Given the description of an element on the screen output the (x, y) to click on. 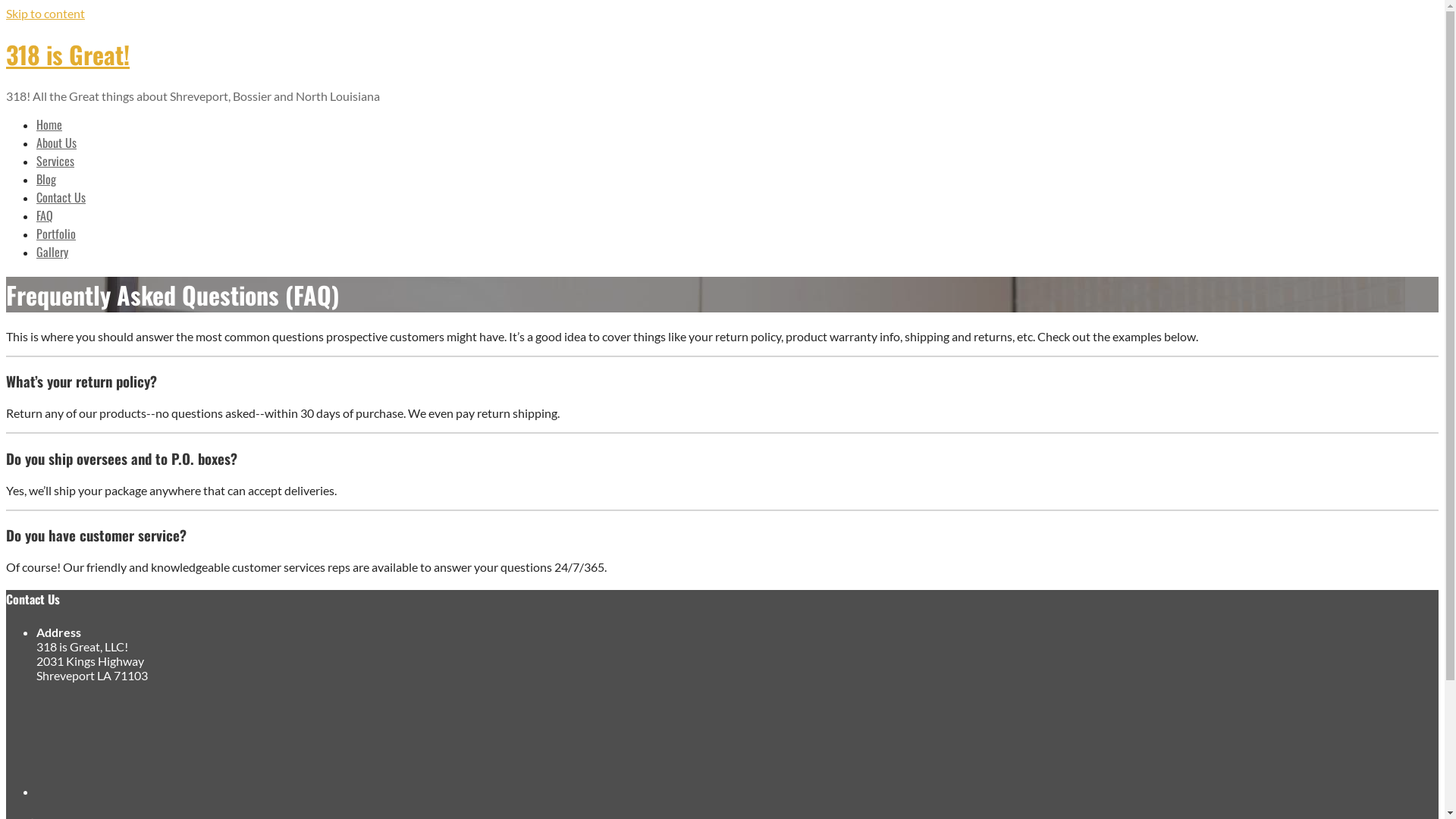
Skip to content Element type: text (45, 13)
Portfolio Element type: text (55, 233)
Services Element type: text (55, 160)
318 is Great! Element type: text (67, 54)
Home Element type: text (49, 124)
FAQ Element type: text (44, 215)
Blog Element type: text (46, 178)
Contact Us Element type: text (60, 197)
Gallery Element type: text (52, 251)
About Us Element type: text (56, 142)
